Given the description of an element on the screen output the (x, y) to click on. 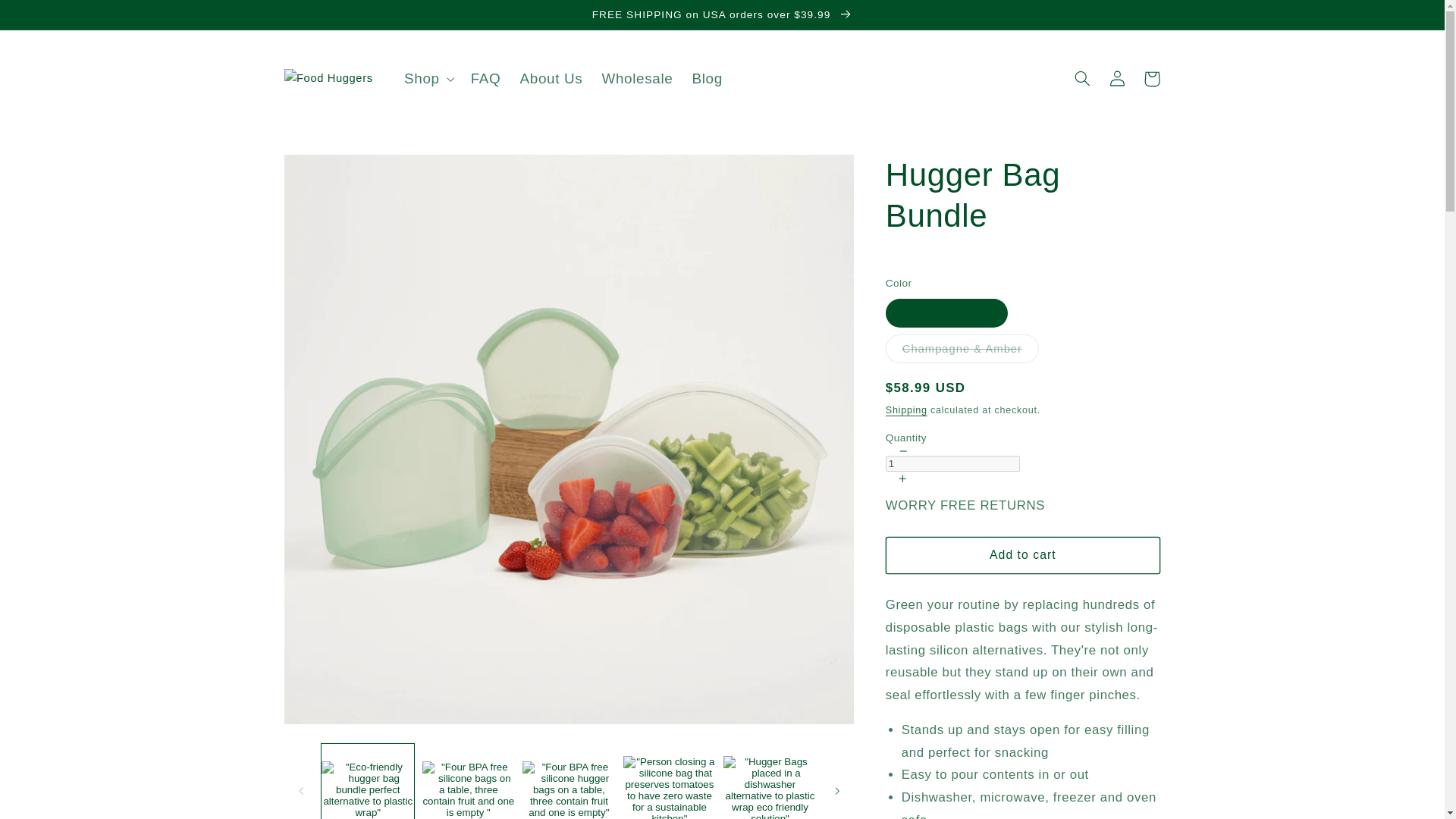
FAQ (486, 78)
1 (952, 463)
Skip to content (48, 18)
